Given the description of an element on the screen output the (x, y) to click on. 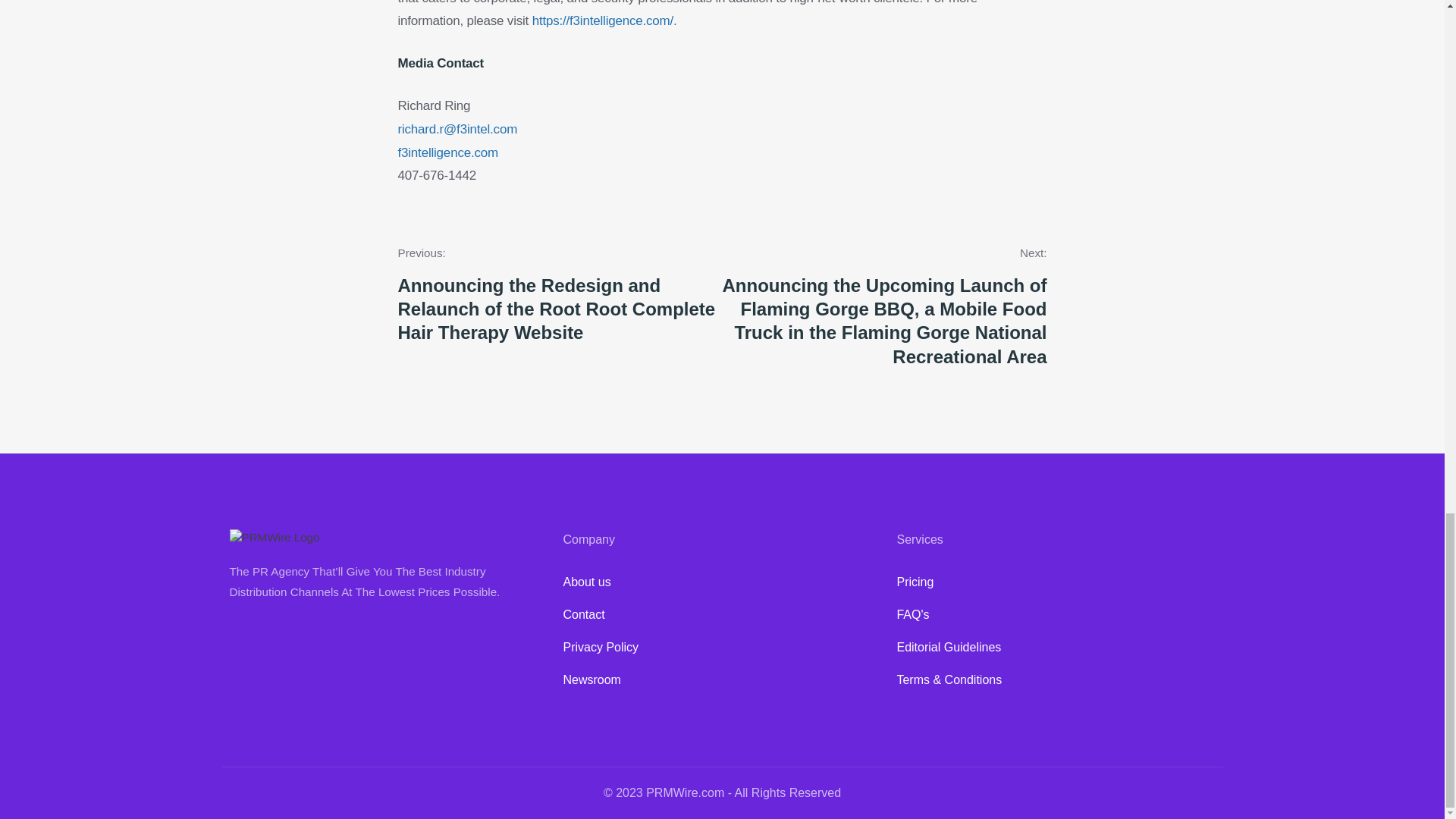
Newsroom (721, 680)
Contact (721, 614)
FAQ's (1055, 614)
PRMWire-Dark-Logo (273, 538)
About us (721, 581)
Editorial Guidelines (1055, 647)
f3intelligence.com (447, 152)
Pricing (1055, 581)
